Given the description of an element on the screen output the (x, y) to click on. 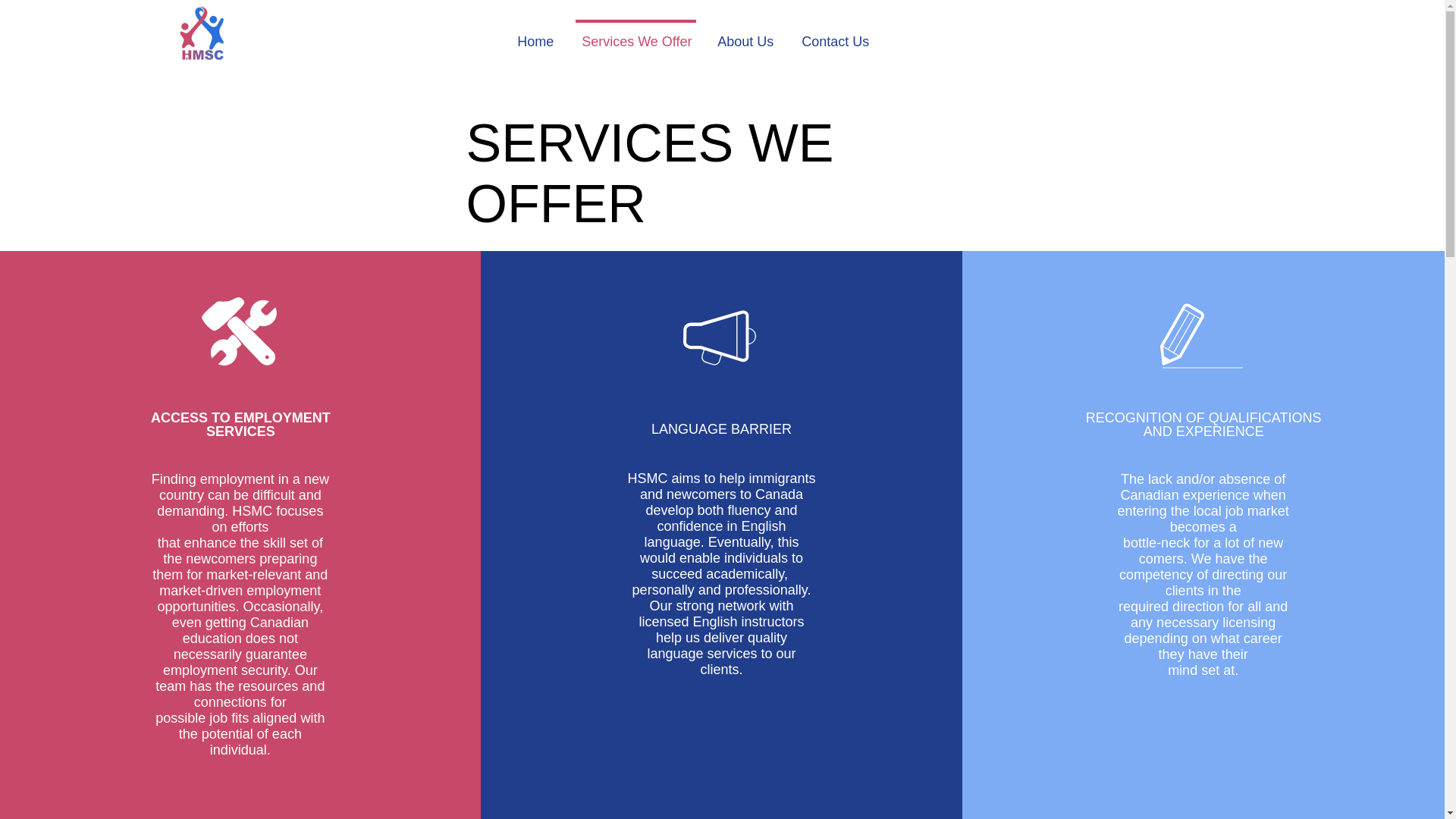
About Us (745, 34)
Services We Offer (635, 34)
Contact Us (834, 34)
Home (535, 34)
